Given the description of an element on the screen output the (x, y) to click on. 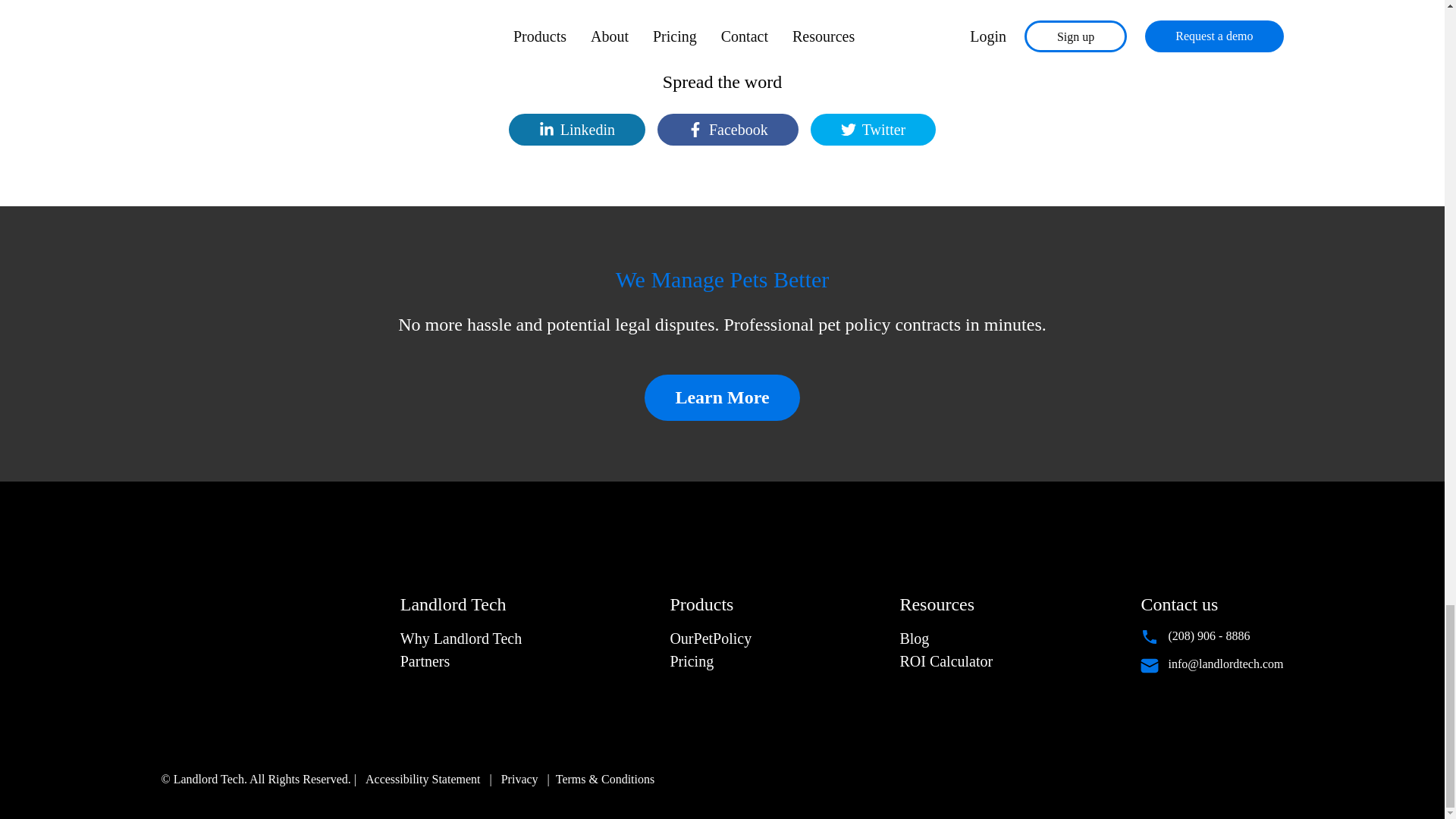
Facebook (727, 129)
Blog (913, 638)
Linkedin (576, 129)
Why Landlord Tech (460, 638)
Partners (424, 660)
ROI Calculator (945, 660)
Learn More (722, 397)
Twitter (873, 129)
OurPetPolicy (710, 638)
Pricing (691, 660)
